Given the description of an element on the screen output the (x, y) to click on. 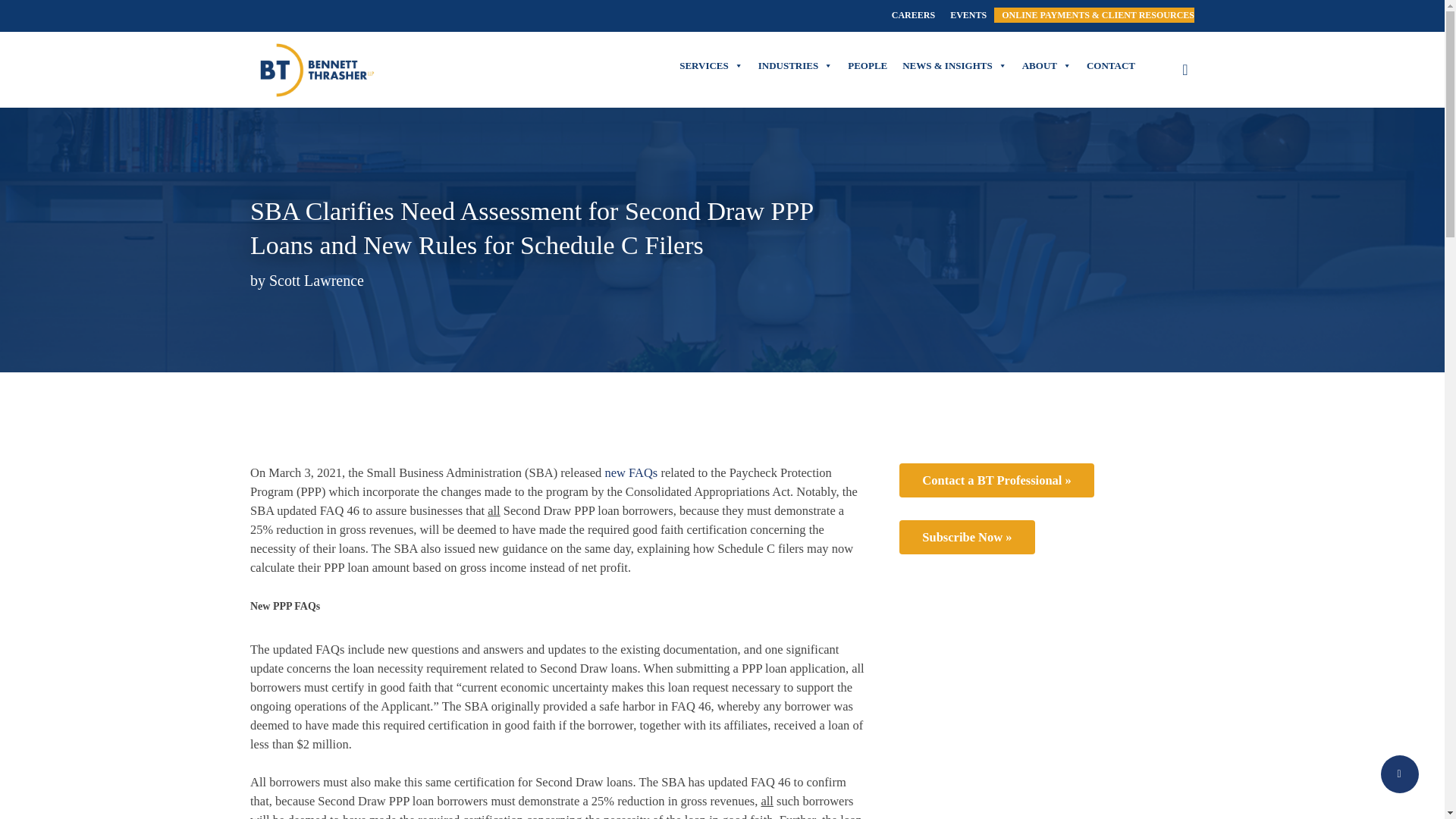
CAREERS (912, 14)
EVENTS (968, 14)
SERVICES (711, 65)
